Given the description of an element on the screen output the (x, y) to click on. 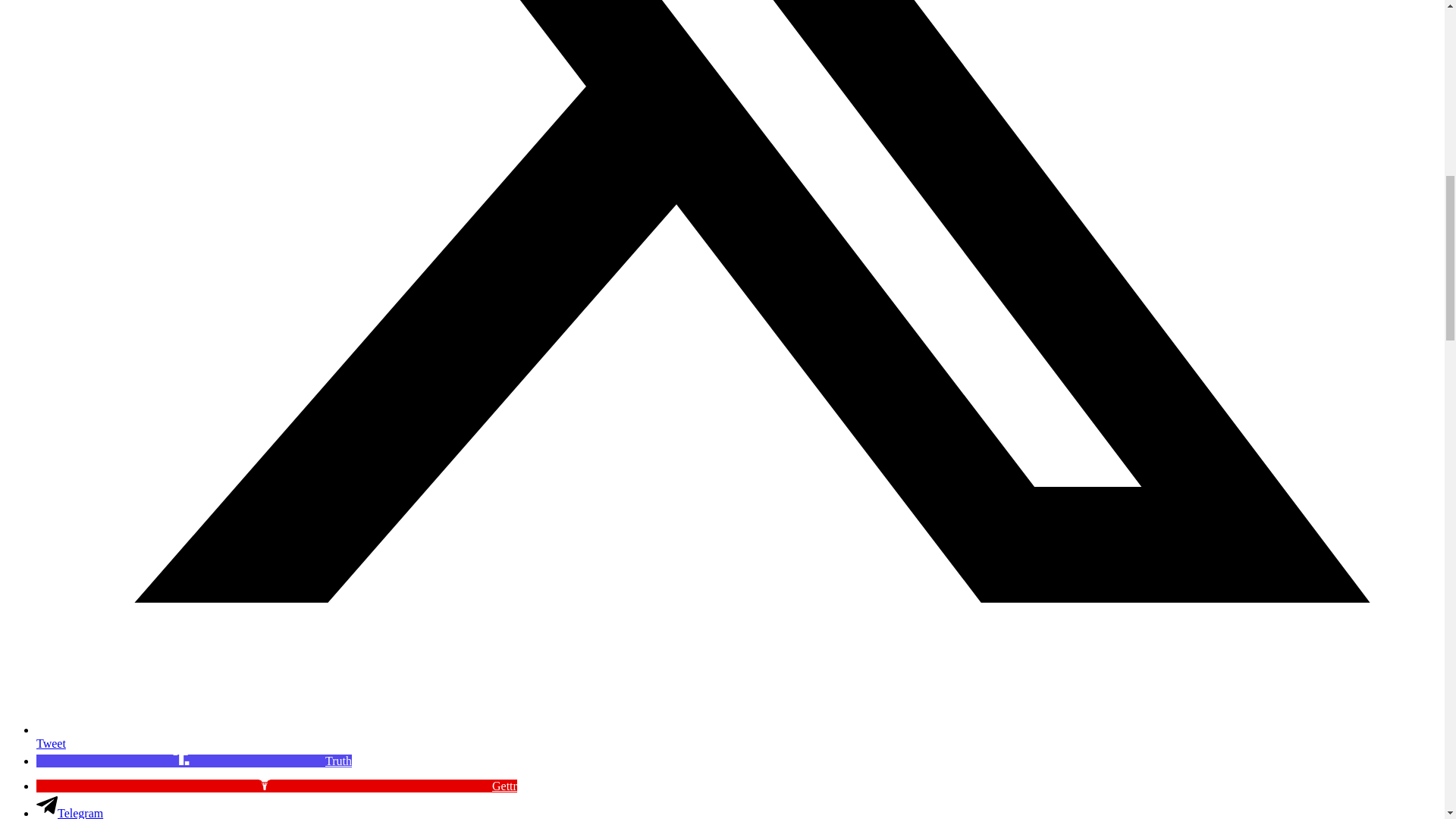
Truth (194, 760)
Share on Truth (194, 760)
Share on Gettr (276, 785)
Telegram (69, 812)
Gettr (276, 785)
Share on Telegram (69, 812)
